Given the description of an element on the screen output the (x, y) to click on. 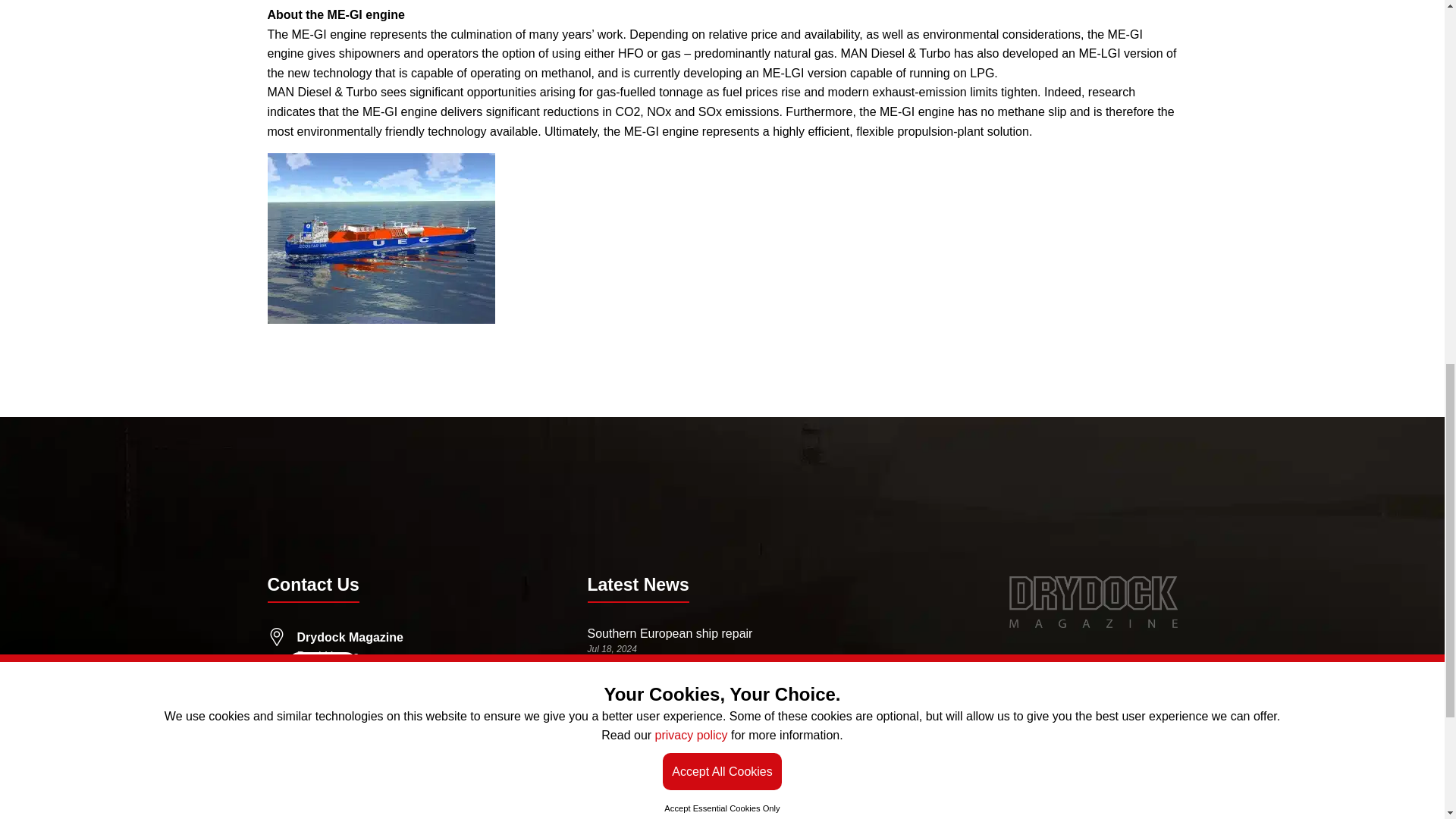
Sitemap (1154, 815)
Southern European ship repair (669, 633)
Berge Neblina sets sail following Rotor Sails installation (705, 770)
MPI Group (1151, 662)
Privacy Policy (1084, 815)
